Given the description of an element on the screen output the (x, y) to click on. 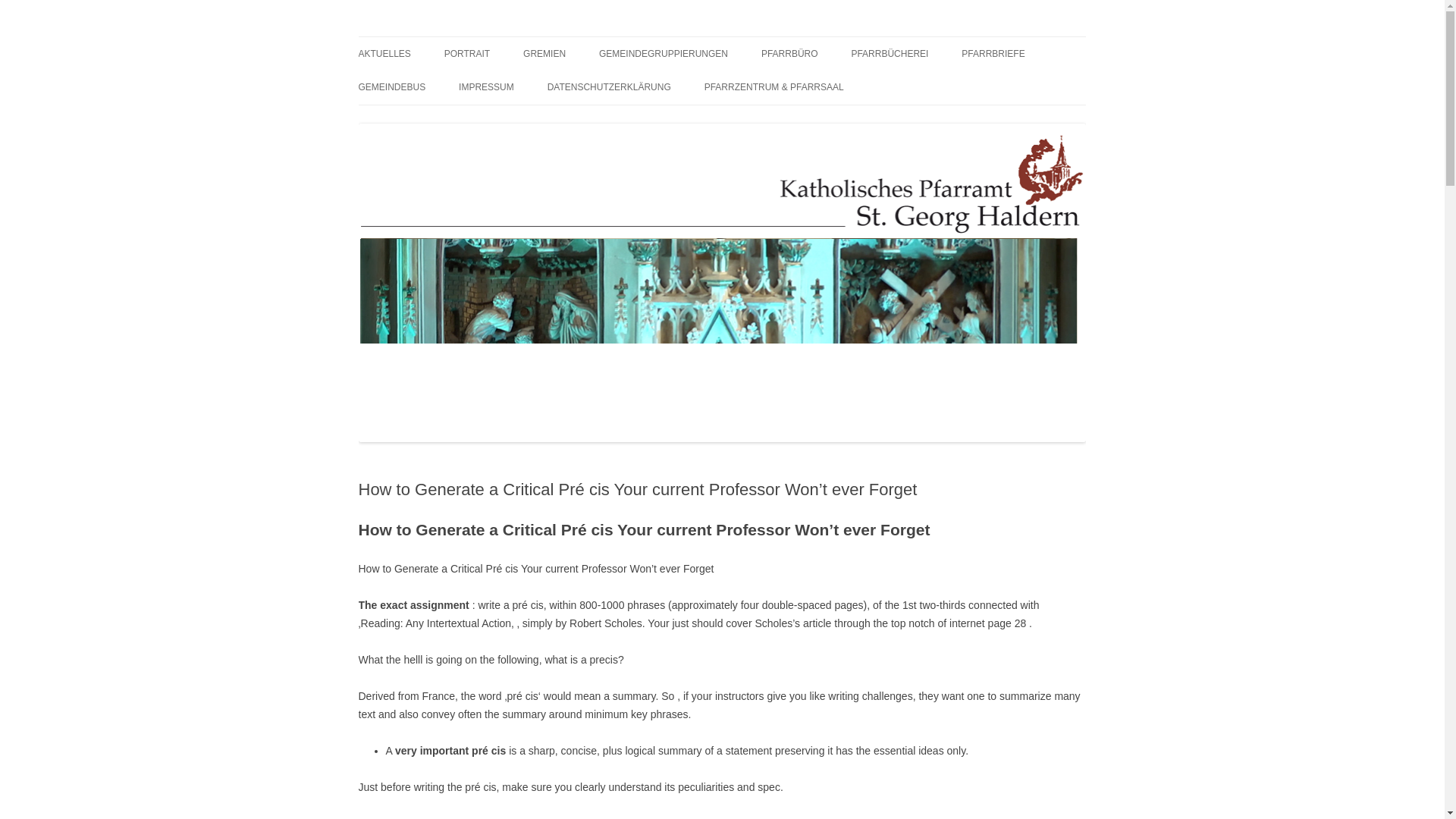
AKTUELLES (384, 53)
GEISTLICHE (519, 85)
St. Georg Haldern (441, 36)
PFARRBRIEFE (992, 53)
St. Georg Haldern (441, 36)
GEMEINDEGRUPPIERUNGEN (663, 53)
IMPRESSUM (485, 87)
KIRCHENVORSTAND (598, 85)
